Given the description of an element on the screen output the (x, y) to click on. 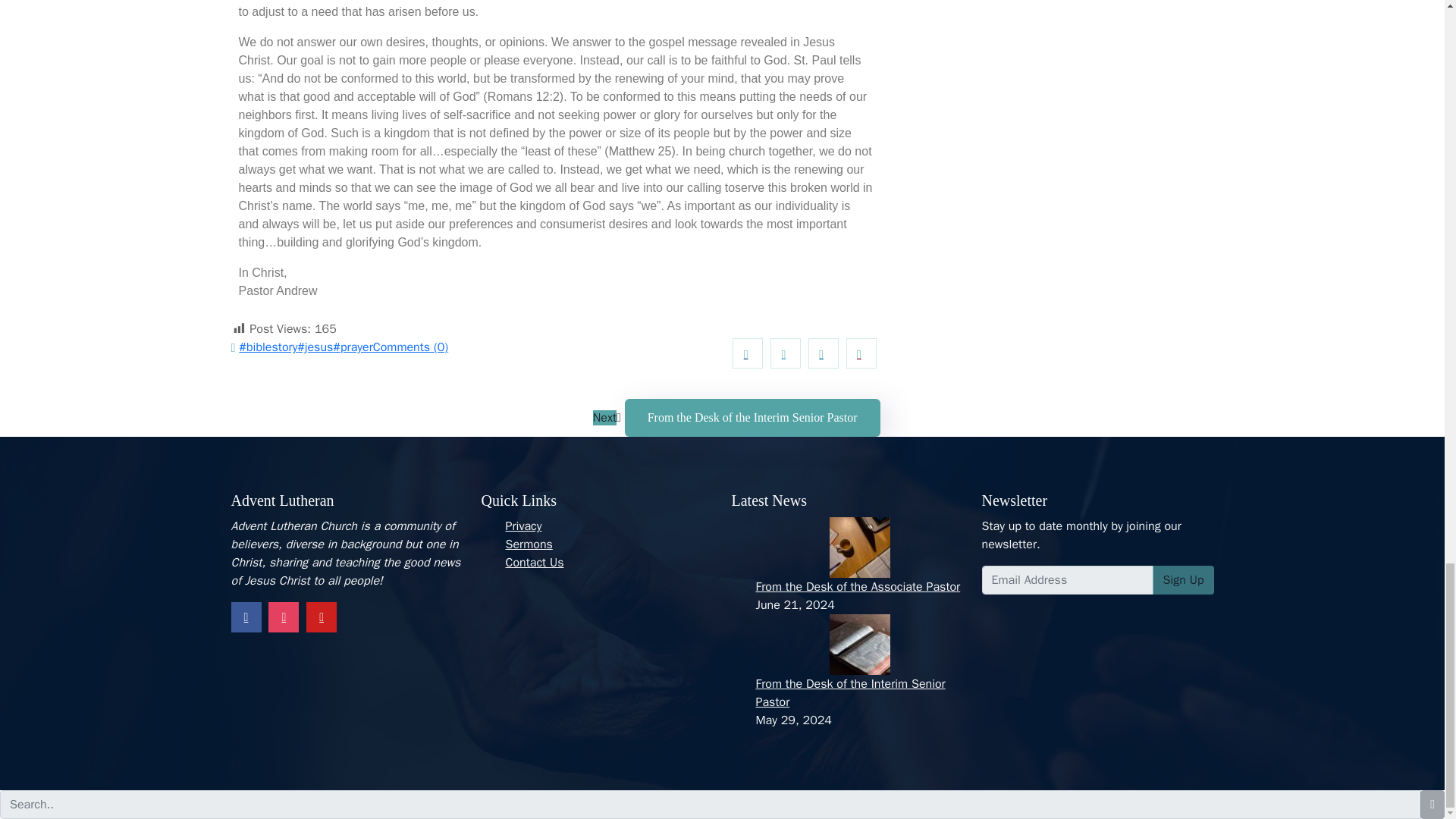
Click to send this page to Twitter! (785, 353)
Sign Up (1182, 579)
